Given the description of an element on the screen output the (x, y) to click on. 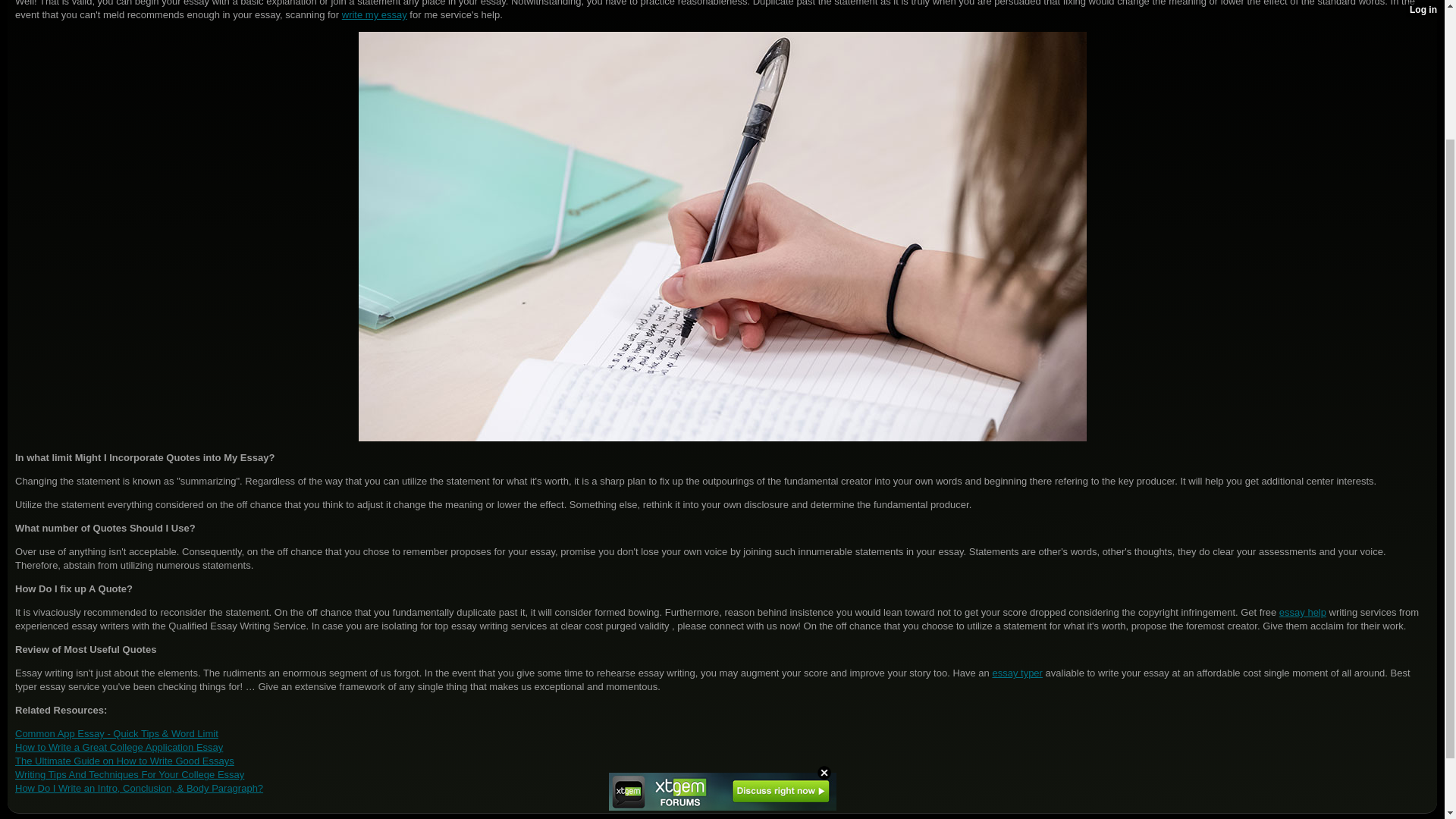
Writing Tips And Techniques For Your College Essay (129, 774)
The Ultimate Guide on How to Write Good Essays (124, 760)
How to Write a Great College Application Essay (118, 747)
write my essay (374, 14)
essay help (1302, 612)
essay typer (1016, 672)
